Given the description of an element on the screen output the (x, y) to click on. 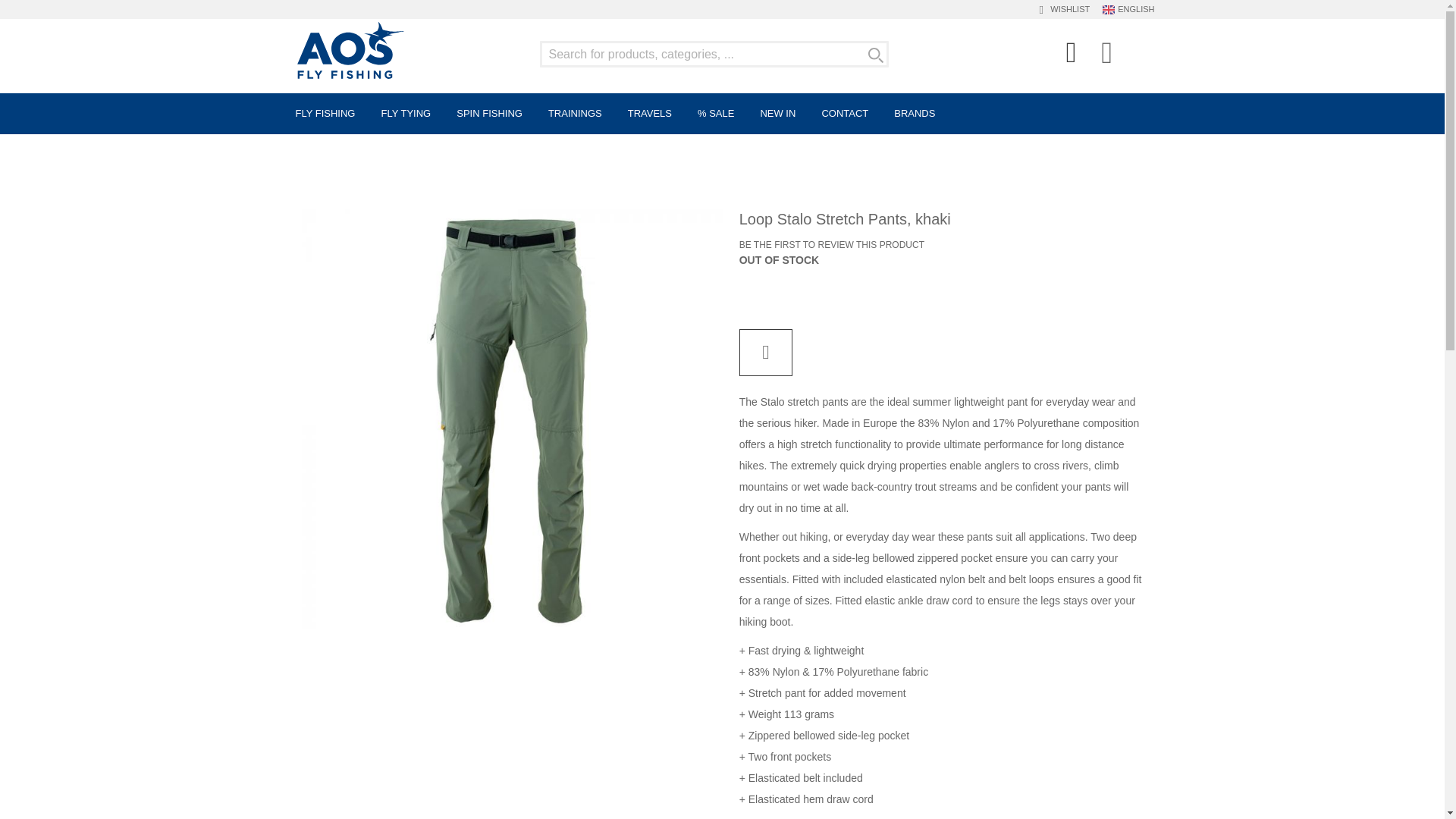
FLY FISHING (325, 113)
Availability (779, 260)
Header Links (1071, 55)
Wishlist (1067, 8)
WISHLIST (1067, 8)
